Given the description of an element on the screen output the (x, y) to click on. 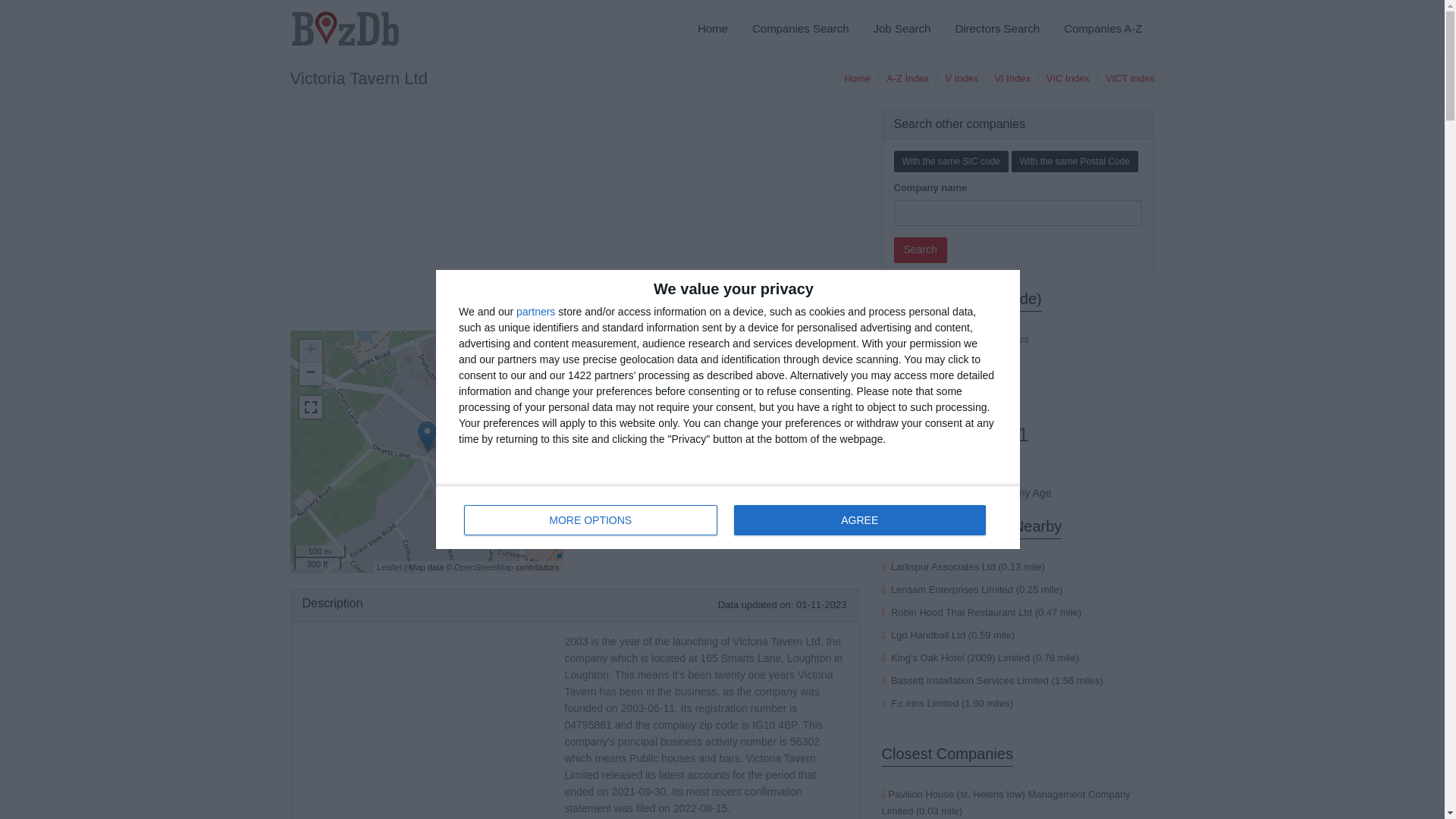
VI Index (1012, 78)
Home (712, 28)
VIC Index (1067, 78)
the day the company was formed (722, 473)
A-Z Index (907, 78)
Lensam Enterprises Limited (952, 589)
Leaflet (389, 566)
Directors Search (996, 28)
Job Search (902, 28)
With the same Postal Code (727, 516)
Robin Hood Thai Restaurant Ltd (1074, 160)
V Index (961, 612)
Larkspur Associates Ltd (961, 78)
